Given the description of an element on the screen output the (x, y) to click on. 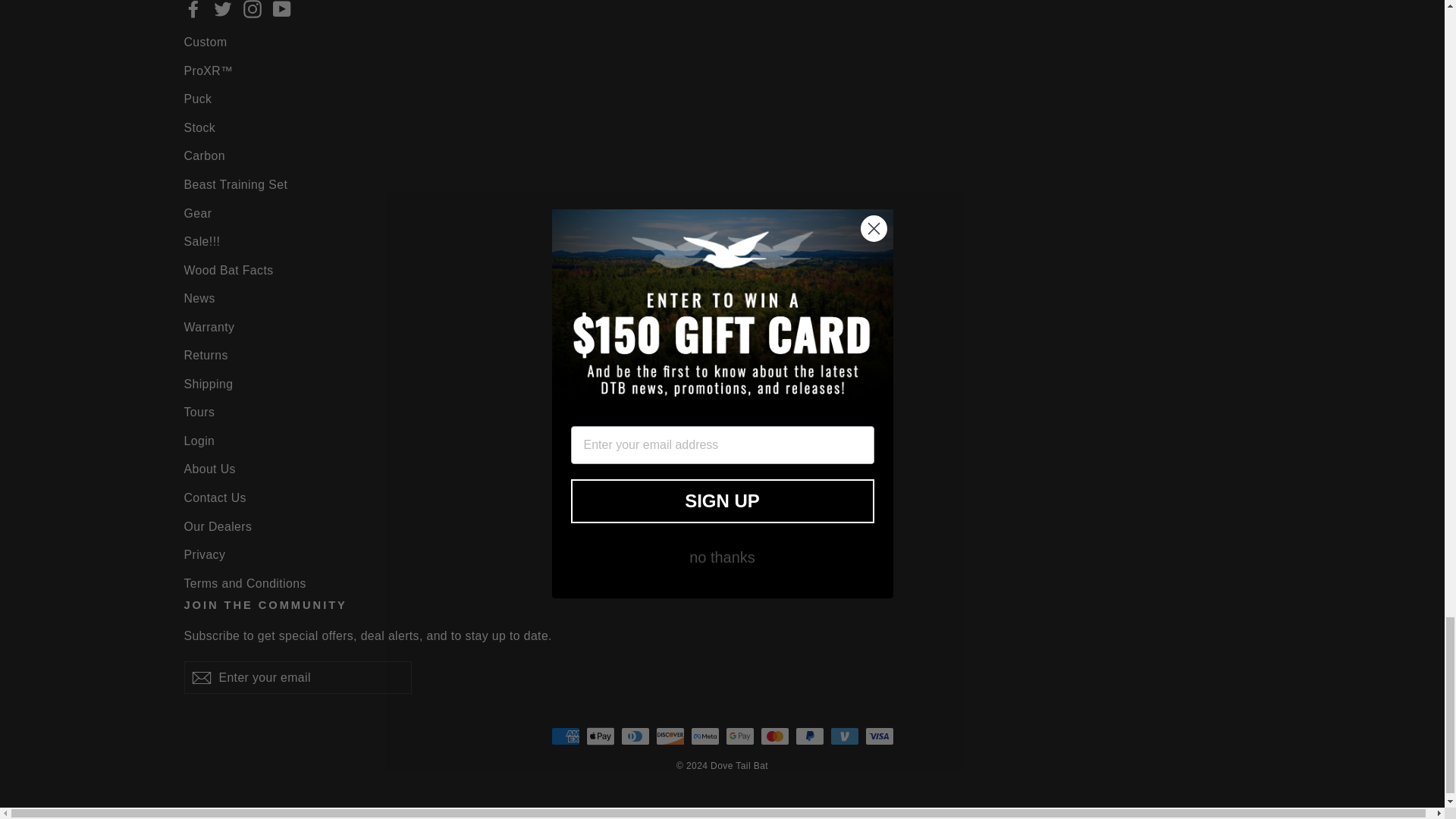
American Express (564, 736)
Diners Club (634, 736)
Apple Pay (599, 736)
Discover (669, 736)
